Given the description of an element on the screen output the (x, y) to click on. 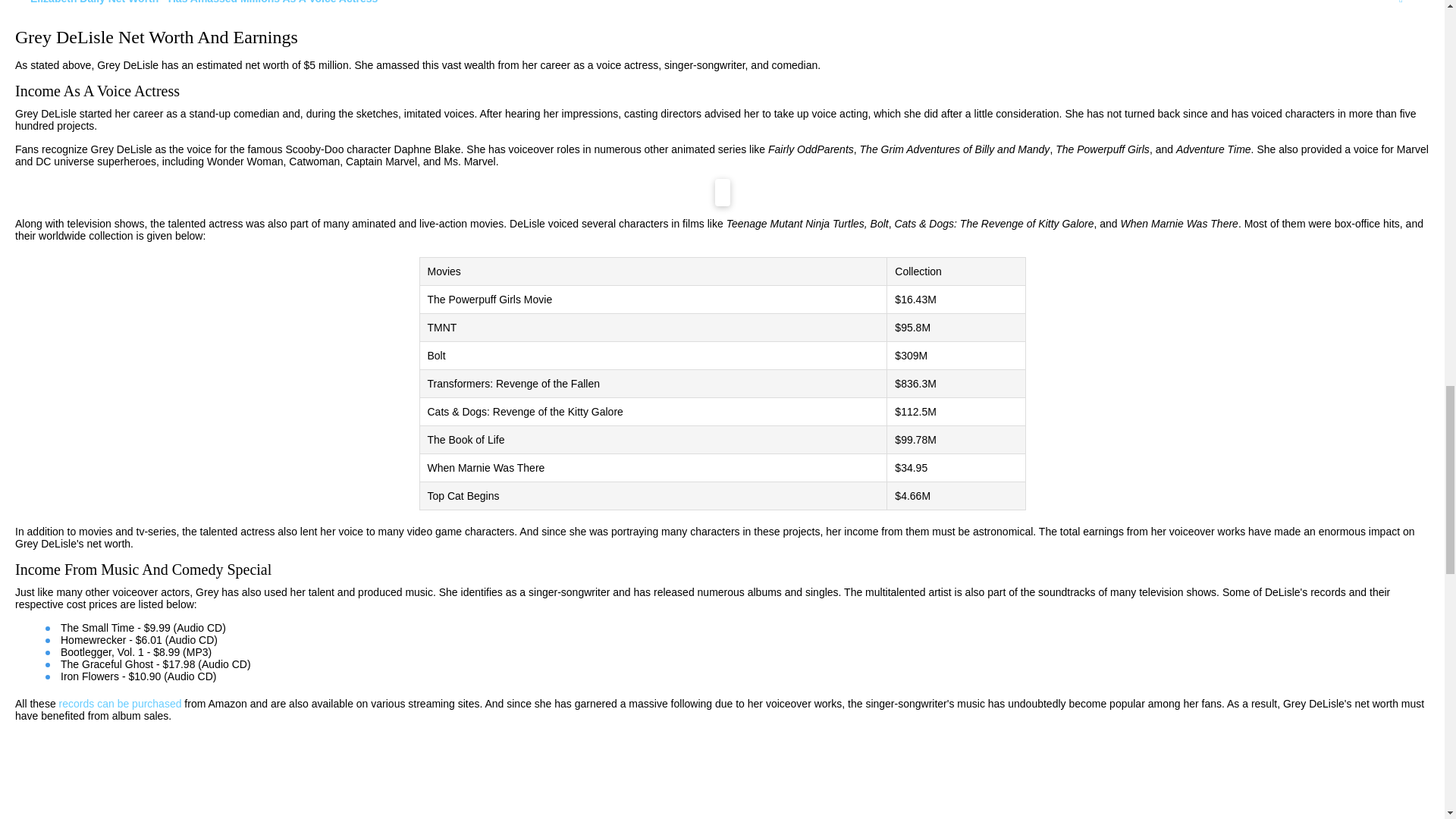
records can be purchased (120, 703)
